Given the description of an element on the screen output the (x, y) to click on. 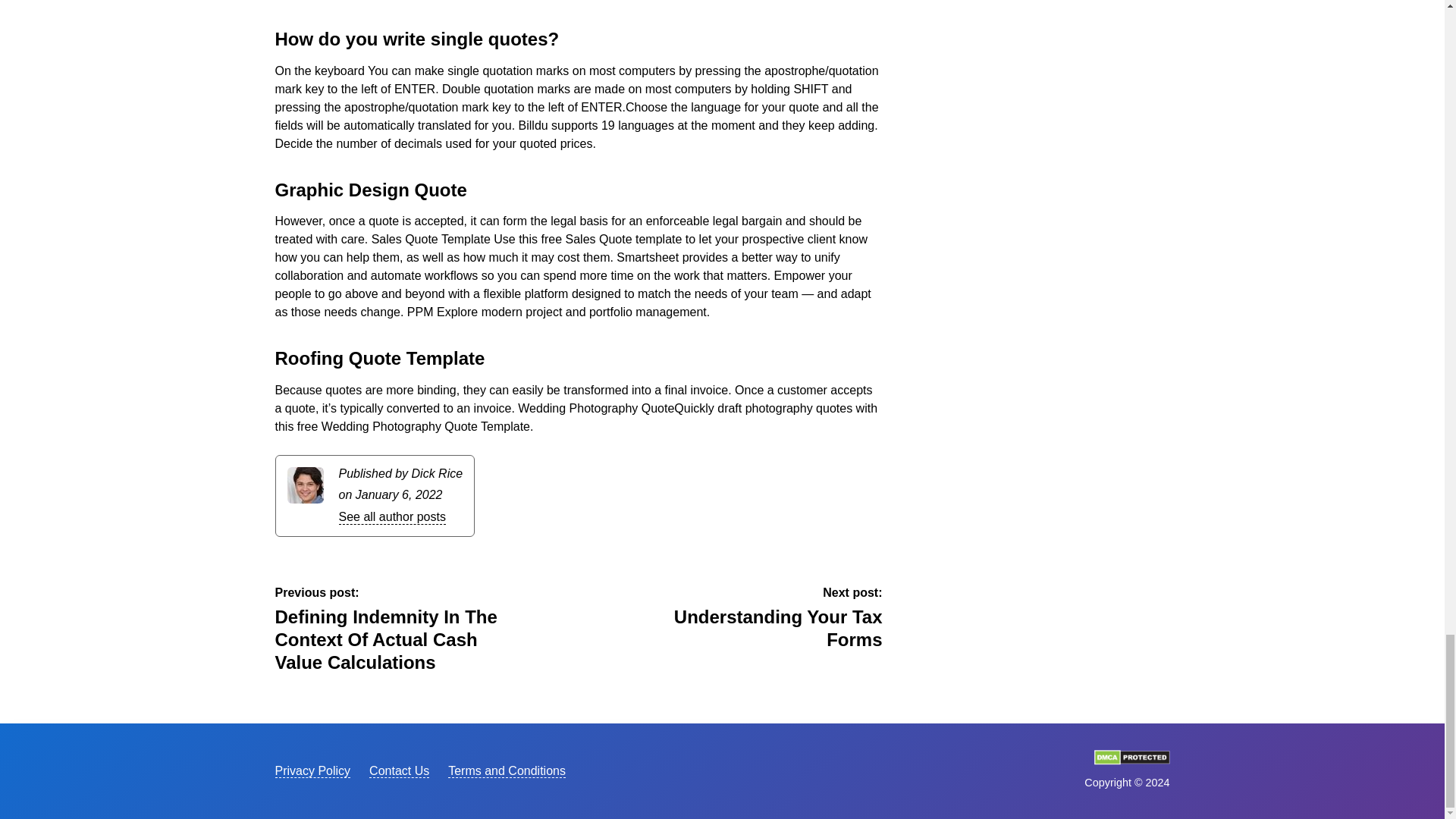
Contact Us (399, 771)
Privacy Policy (767, 618)
See all author posts (312, 771)
Terms and Conditions (391, 517)
Content Protection by DMCA.com (507, 771)
